Given the description of an element on the screen output the (x, y) to click on. 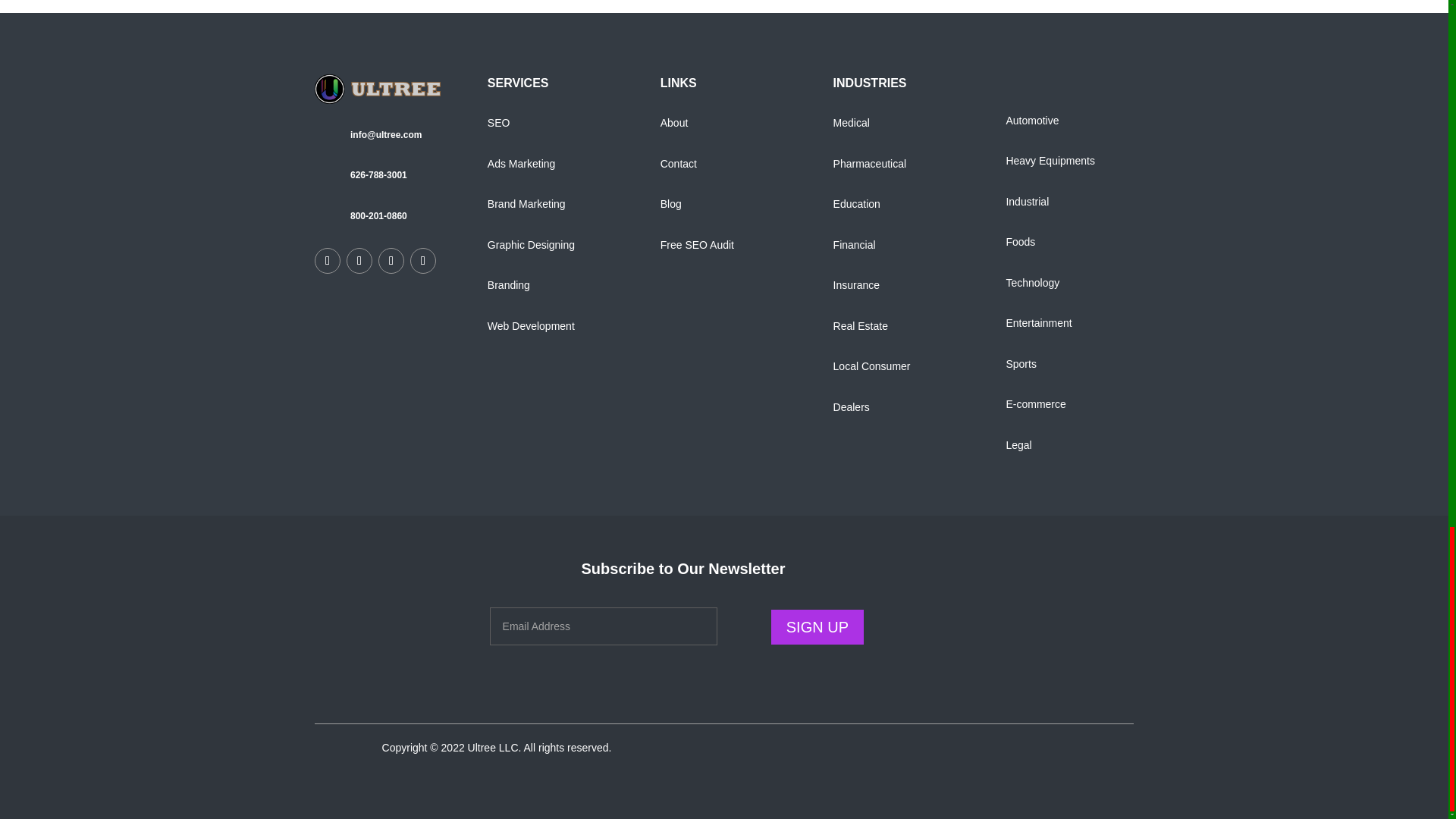
Follow on X (359, 260)
ultree (378, 89)
Follow on Facebook (327, 260)
Follow on Instagram (422, 260)
Follow on LinkedIn (391, 260)
